Given the description of an element on the screen output the (x, y) to click on. 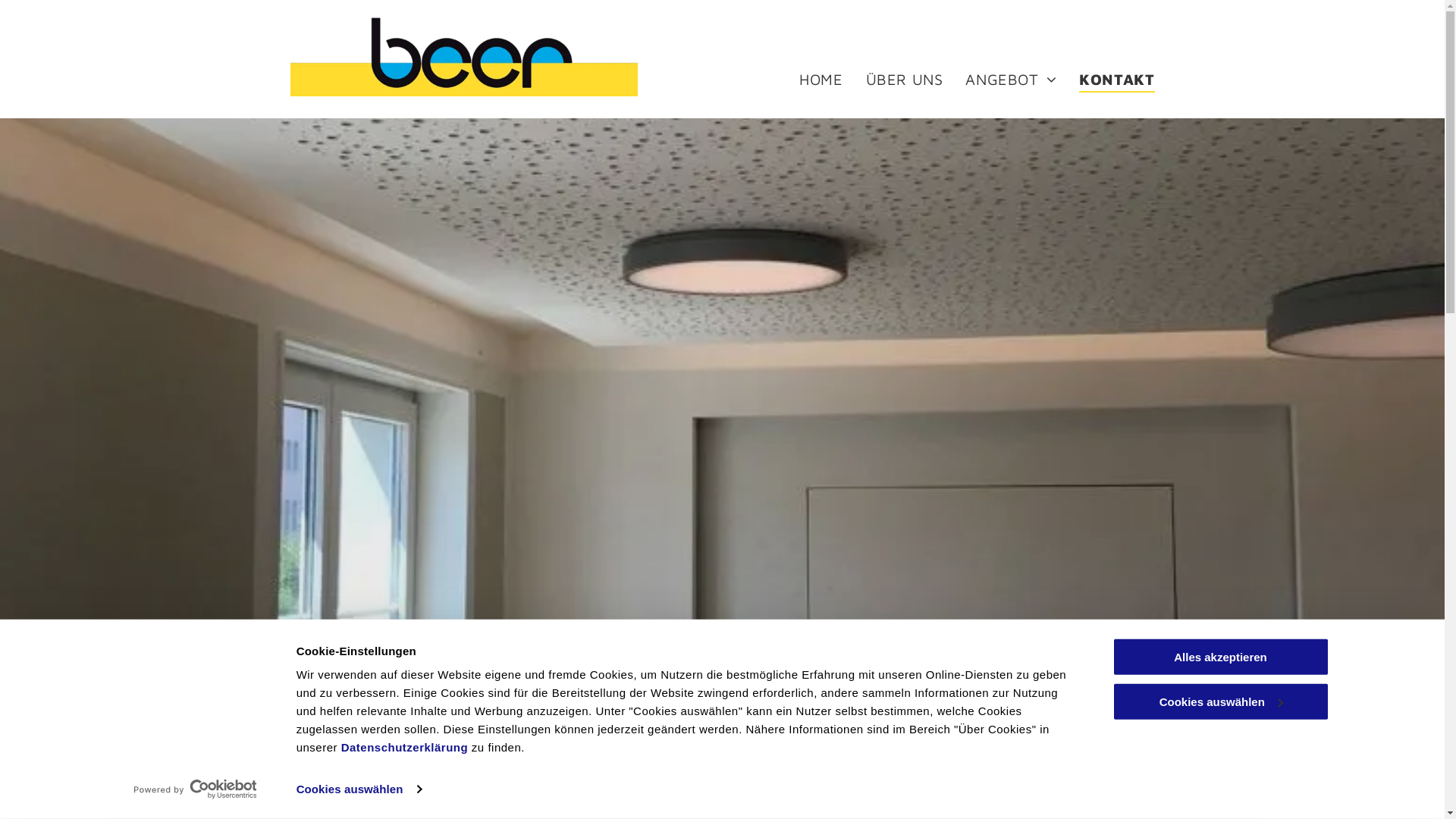
Alles akzeptieren Element type: text (1219, 656)
HOME Element type: text (809, 80)
ANGEBOT Element type: text (999, 80)
KONTAKT Element type: text (1105, 80)
